Given the description of an element on the screen output the (x, y) to click on. 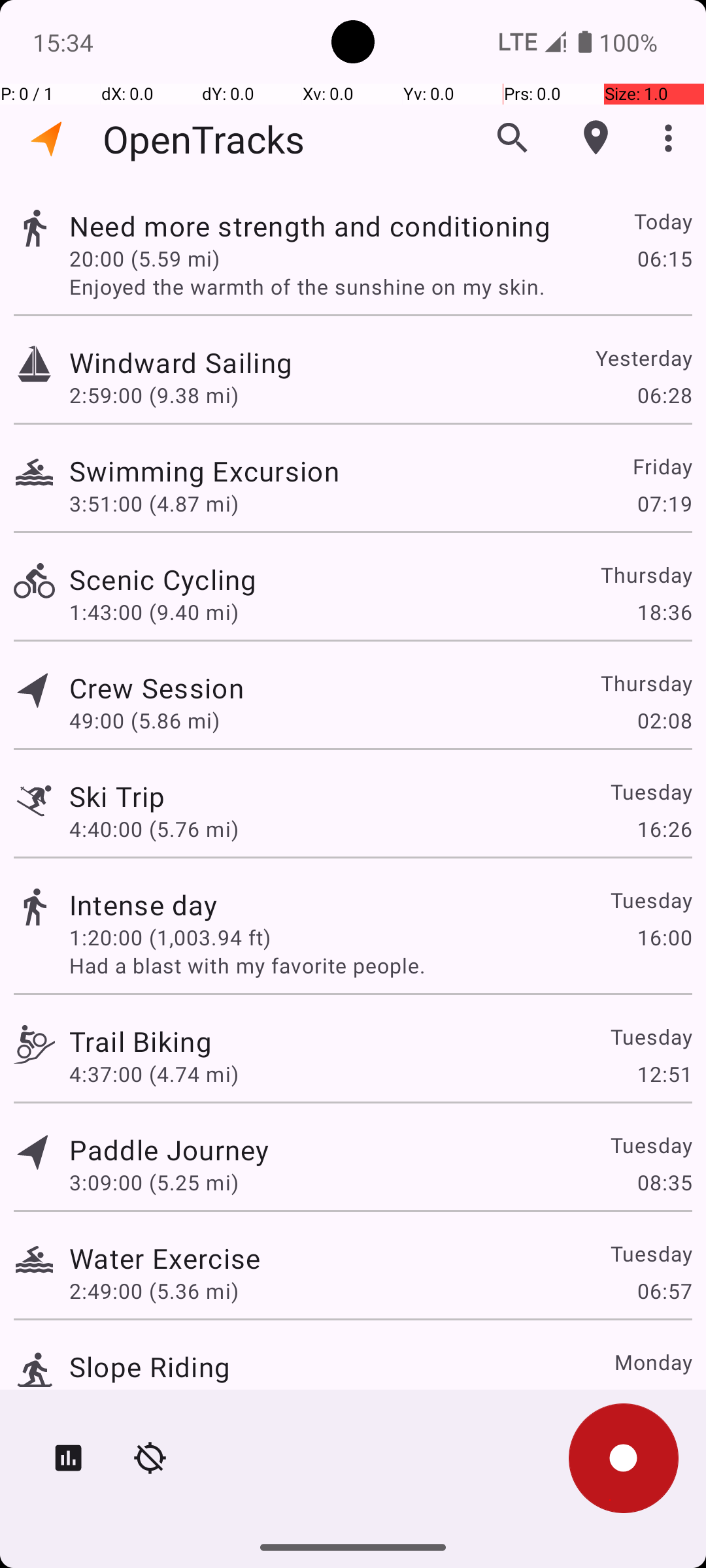
Need more strength and conditioning Element type: android.widget.TextView (309, 225)
20:00 (5.59 mi) Element type: android.widget.TextView (144, 258)
06:15 Element type: android.widget.TextView (664, 258)
Enjoyed the warmth of the sunshine on my skin. Element type: android.widget.TextView (380, 286)
Windward Sailing Element type: android.widget.TextView (180, 361)
2:59:00 (9.38 mi) Element type: android.widget.TextView (153, 394)
06:28 Element type: android.widget.TextView (664, 394)
Swimming Excursion Element type: android.widget.TextView (203, 470)
3:51:00 (4.87 mi) Element type: android.widget.TextView (153, 503)
07:19 Element type: android.widget.TextView (664, 503)
1:43:00 (9.40 mi) Element type: android.widget.TextView (153, 611)
18:36 Element type: android.widget.TextView (664, 611)
Crew Session Element type: android.widget.TextView (156, 687)
49:00 (5.86 mi) Element type: android.widget.TextView (144, 720)
02:08 Element type: android.widget.TextView (664, 720)
Ski Trip Element type: android.widget.TextView (116, 795)
4:40:00 (5.76 mi) Element type: android.widget.TextView (153, 828)
16:26 Element type: android.widget.TextView (664, 828)
Intense day Element type: android.widget.TextView (143, 904)
1:20:00 (1,003.94 ft) Element type: android.widget.TextView (169, 937)
Had a blast with my favorite people. Element type: android.widget.TextView (380, 965)
Trail Biking Element type: android.widget.TextView (140, 1040)
4:37:00 (4.74 mi) Element type: android.widget.TextView (153, 1073)
12:51 Element type: android.widget.TextView (664, 1073)
Paddle Journey Element type: android.widget.TextView (168, 1149)
3:09:00 (5.25 mi) Element type: android.widget.TextView (153, 1182)
08:35 Element type: android.widget.TextView (664, 1182)
Water Exercise Element type: android.widget.TextView (164, 1257)
2:49:00 (5.36 mi) Element type: android.widget.TextView (153, 1290)
06:57 Element type: android.widget.TextView (664, 1290)
Slope Riding Element type: android.widget.TextView (149, 1366)
1:44:00 (9.94 mi) Element type: android.widget.TextView (153, 1399)
22:21 Element type: android.widget.TextView (664, 1399)
